Given the description of an element on the screen output the (x, y) to click on. 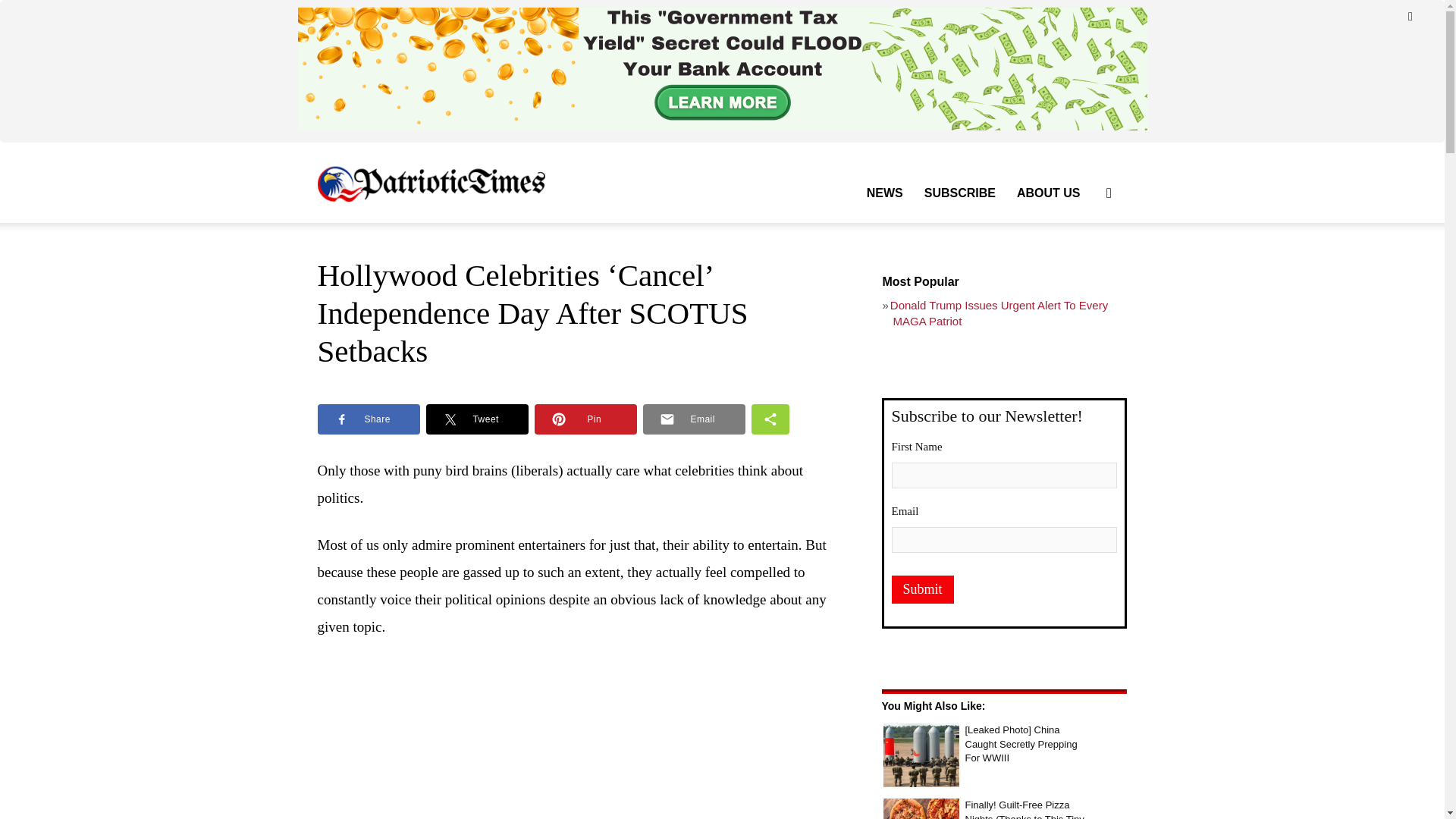
The Patriotic Times (430, 182)
Search (1085, 265)
NEWS (885, 192)
Submit (922, 589)
SUBSCRIBE (960, 192)
ABOUT US (1048, 192)
